Given the description of an element on the screen output the (x, y) to click on. 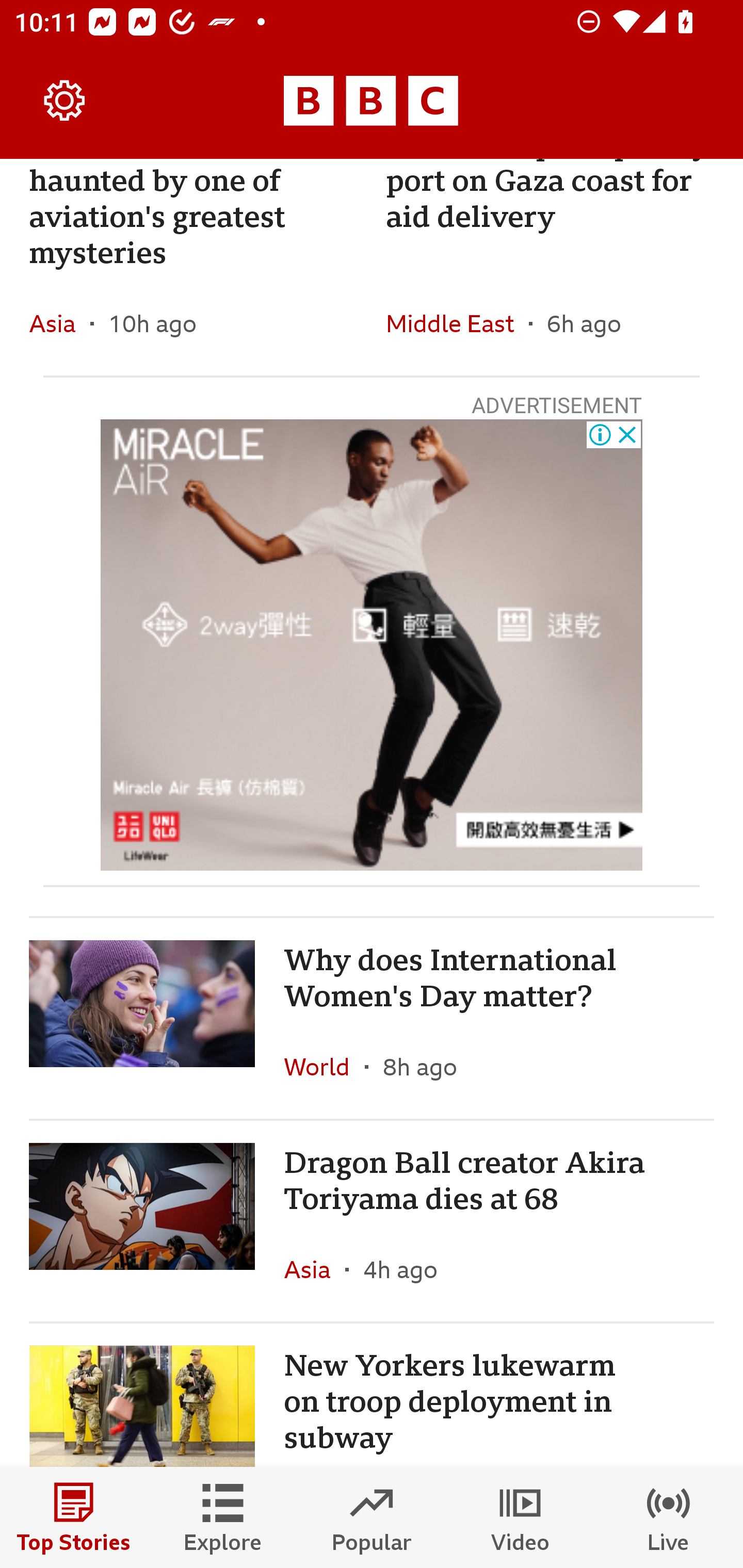
Settings (64, 100)
Asia In the section Asia (59, 322)
Middle East In the section Middle East (457, 322)
Advertisement (371, 644)
World In the section World (323, 1065)
Asia In the section Asia (314, 1268)
Explore (222, 1517)
Popular (371, 1517)
Video (519, 1517)
Live (668, 1517)
